Given the description of an element on the screen output the (x, y) to click on. 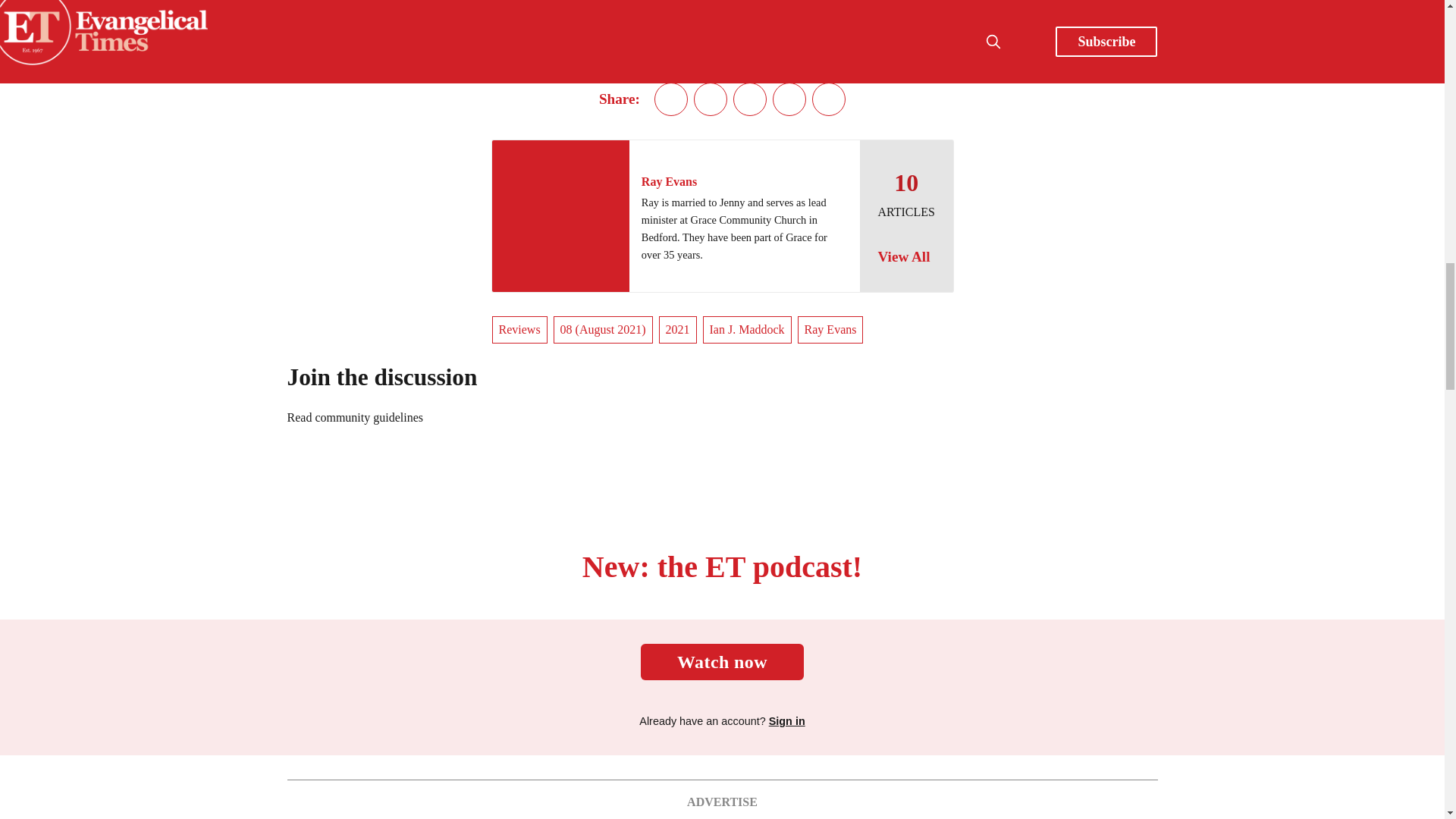
Stay in the loop - subscribe to ET's weekly newsletter (875, 19)
Hudson Taylor Ministries update given in Salisbury (722, 19)
Hudson Taylor Ministries update given in Salisbury (722, 19)
A new and rising liberalism (569, 13)
Stay in the loop - subscribe to ET's weekly newsletter (875, 19)
A new and rising liberalism (569, 13)
